Given the description of an element on the screen output the (x, y) to click on. 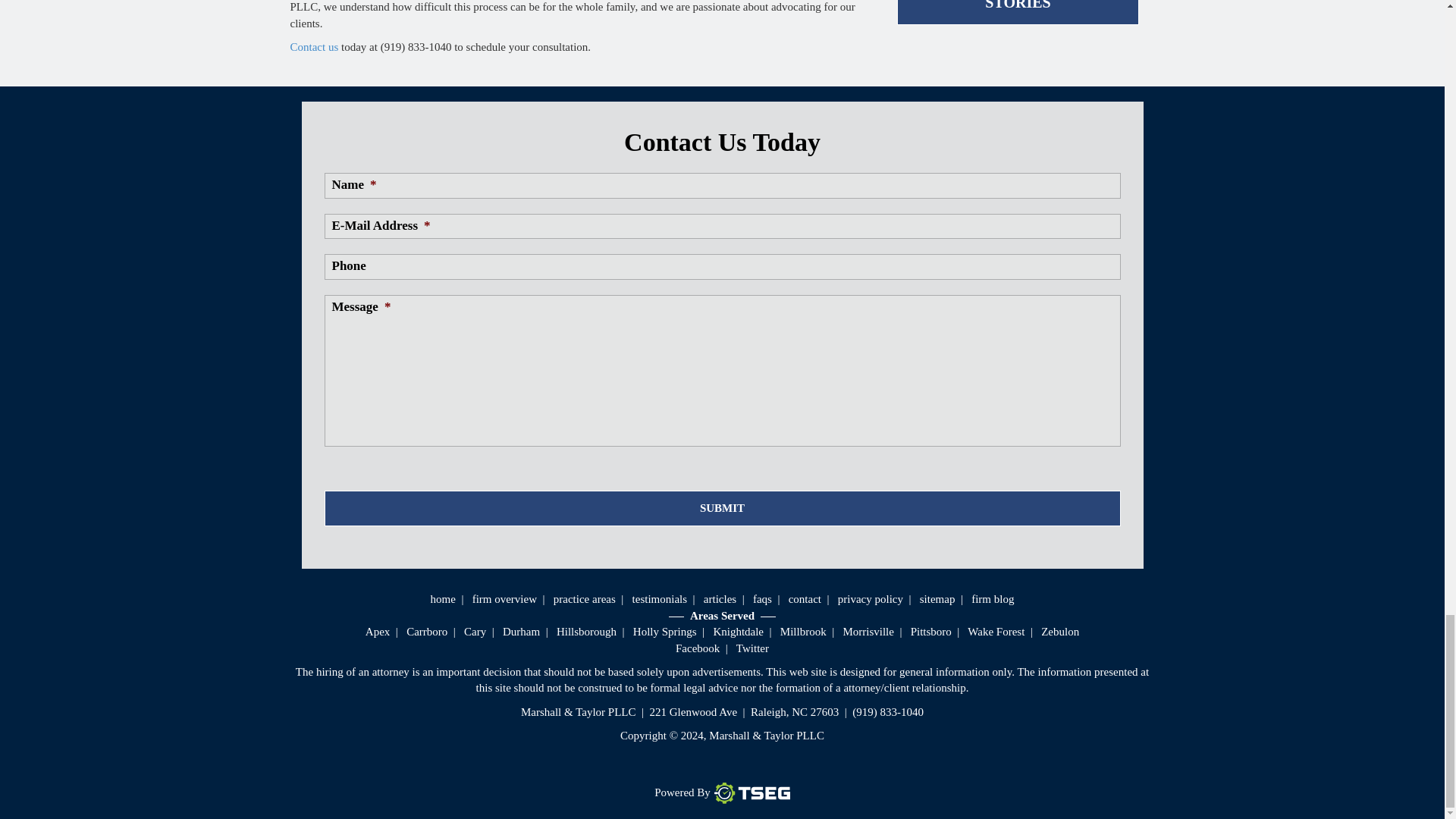
testimonials (659, 598)
firm overview (504, 598)
Submit (722, 508)
articles (719, 598)
Contact us (313, 46)
Contact (313, 46)
Submit (722, 508)
practice areas (584, 598)
faqs (761, 598)
home (442, 598)
